Given the description of an element on the screen output the (x, y) to click on. 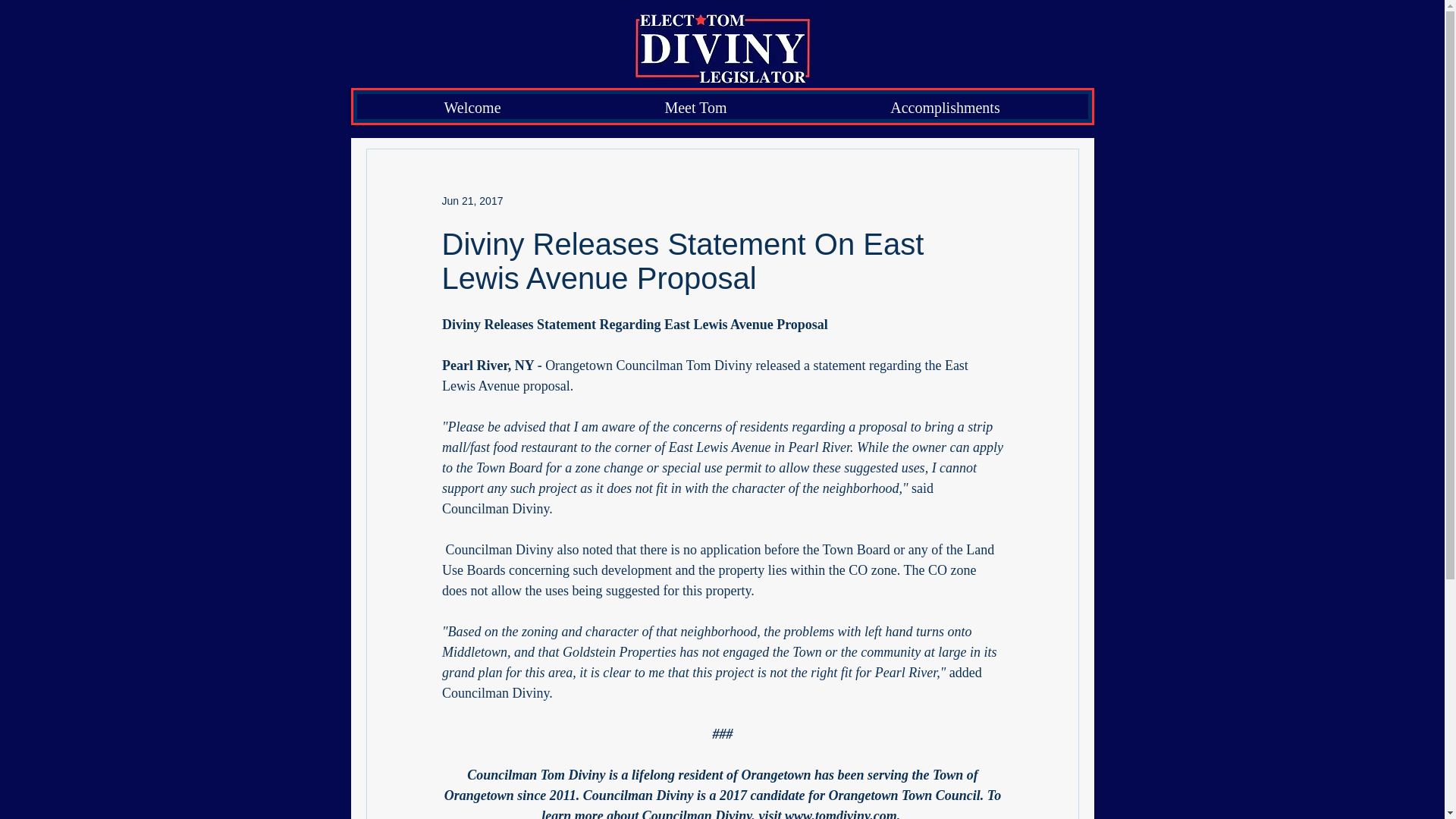
Meet Tom (695, 106)
Welcome (472, 106)
Accomplishments (944, 106)
Diviny Releases Statement On East Lewis Avenue Proposal (682, 260)
Jun 21, 2017 (471, 200)
